Given the description of an element on the screen output the (x, y) to click on. 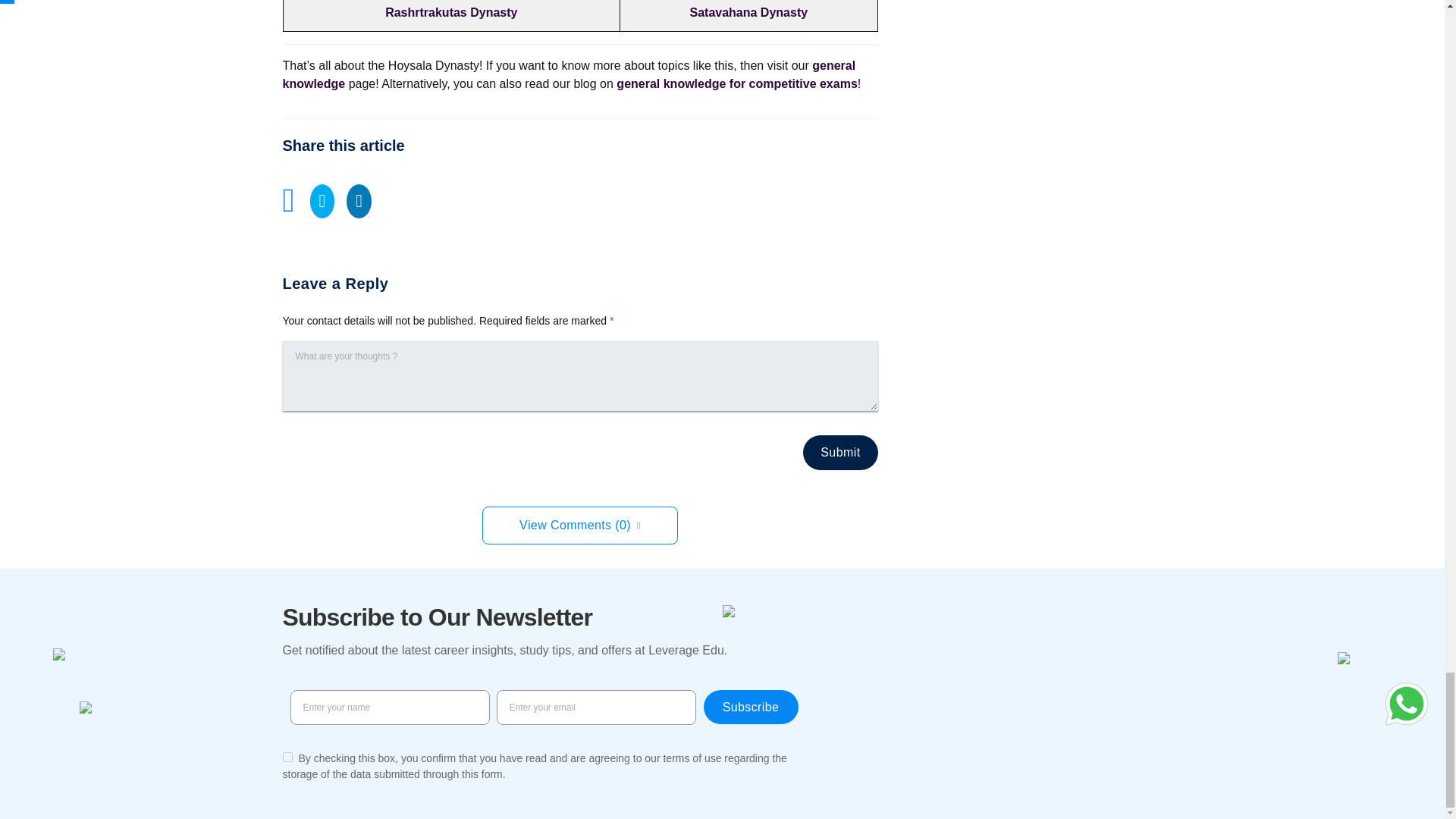
on (287, 757)
